Given the description of an element on the screen output the (x, y) to click on. 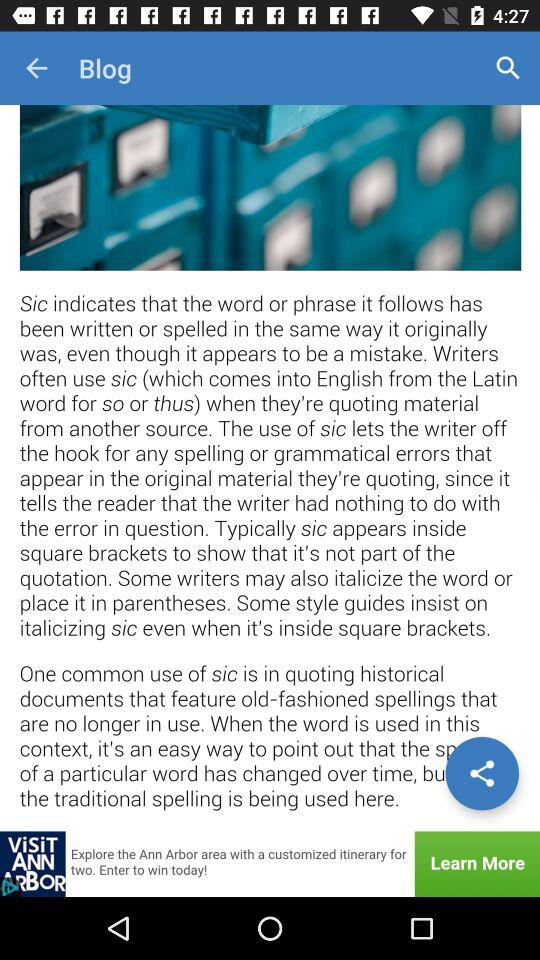
share options (482, 773)
